Given the description of an element on the screen output the (x, y) to click on. 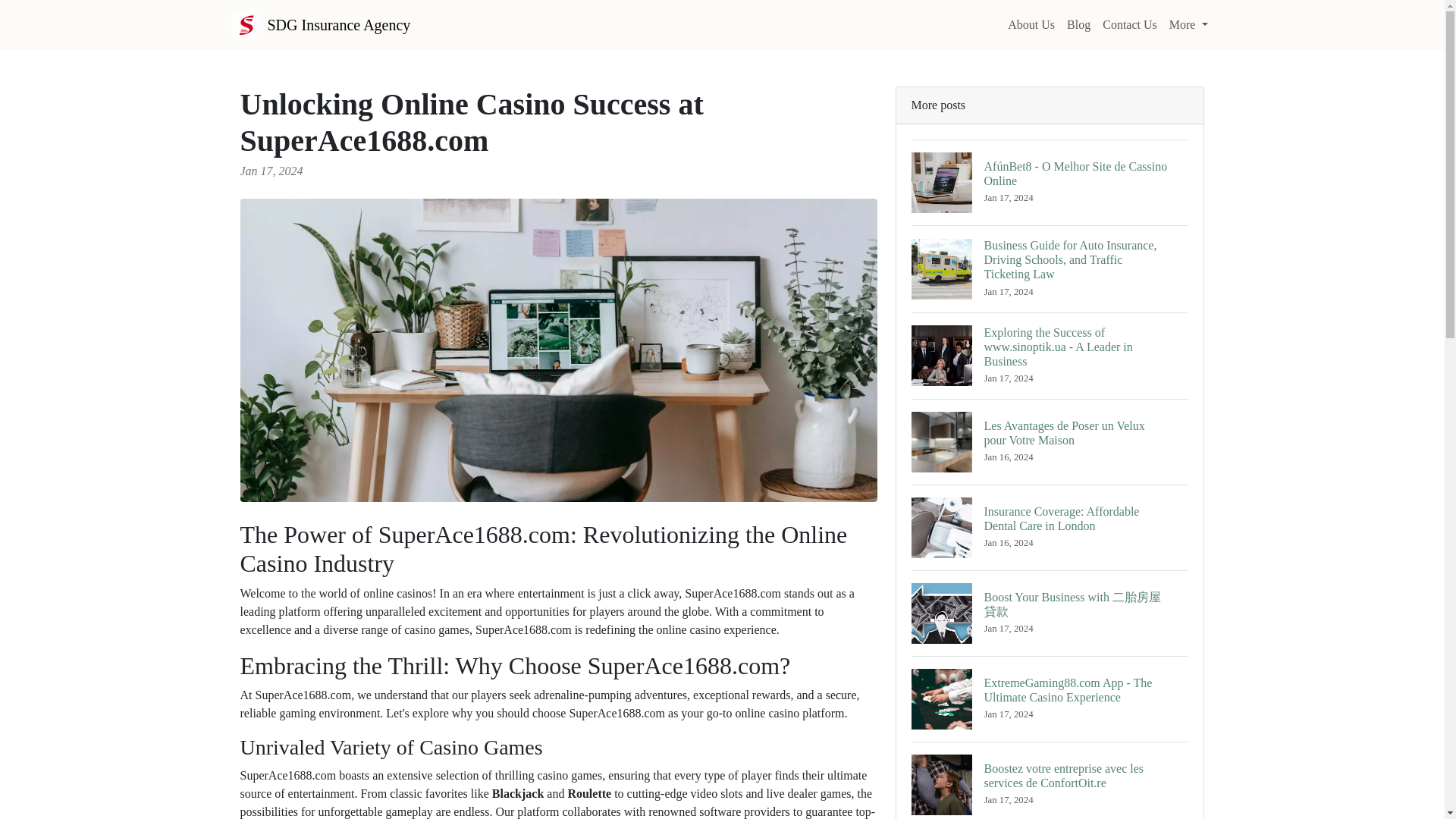
SDG Insurance Agency (320, 24)
More (1188, 24)
About Us (1031, 24)
Blog (1078, 24)
